Given the description of an element on the screen output the (x, y) to click on. 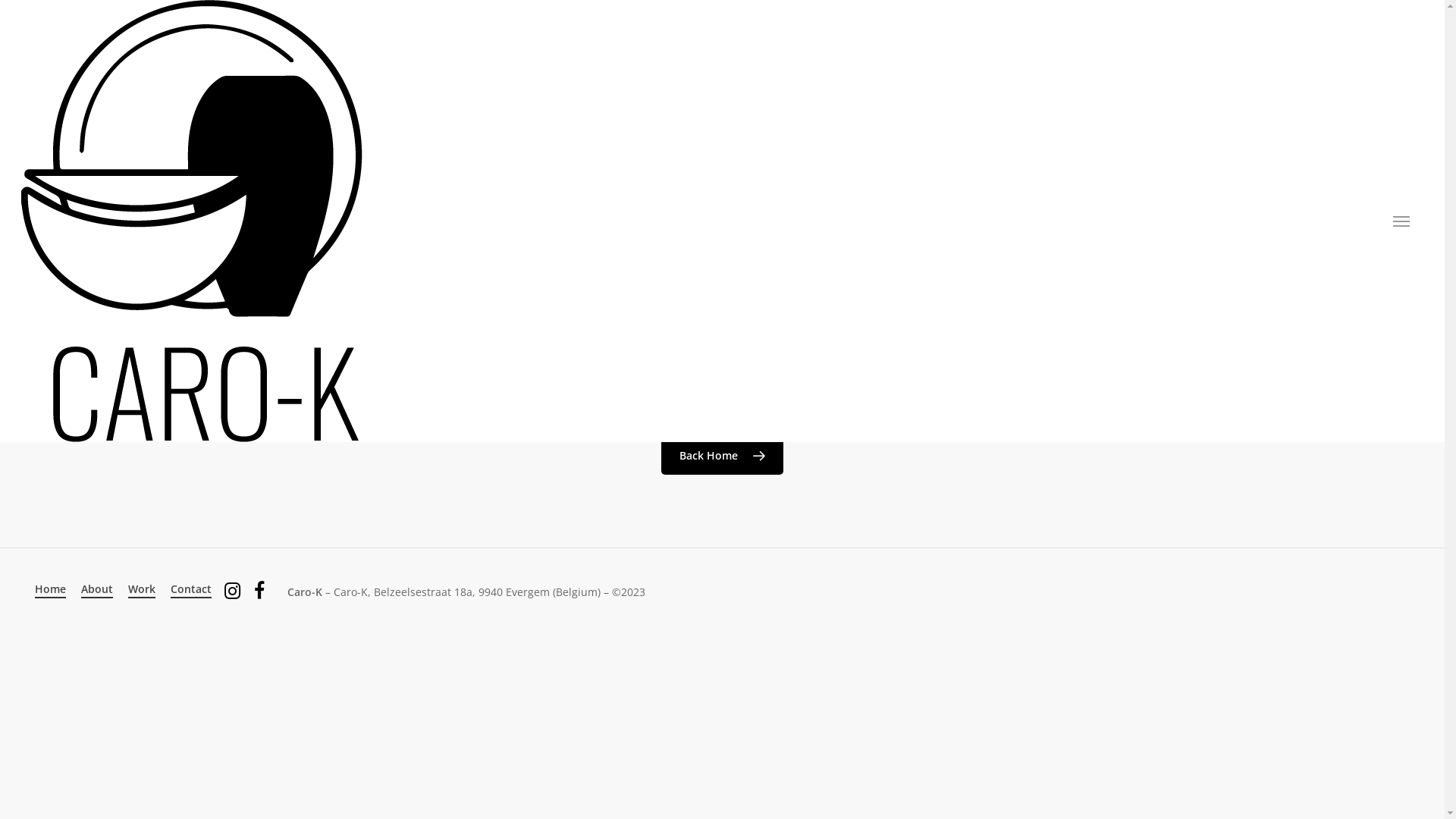
About Element type: text (96, 589)
Contact Element type: text (190, 589)
Back Home Element type: text (722, 455)
Home Element type: text (49, 589)
Menu Element type: text (1401, 221)
Work Element type: text (141, 589)
